Given the description of an element on the screen output the (x, y) to click on. 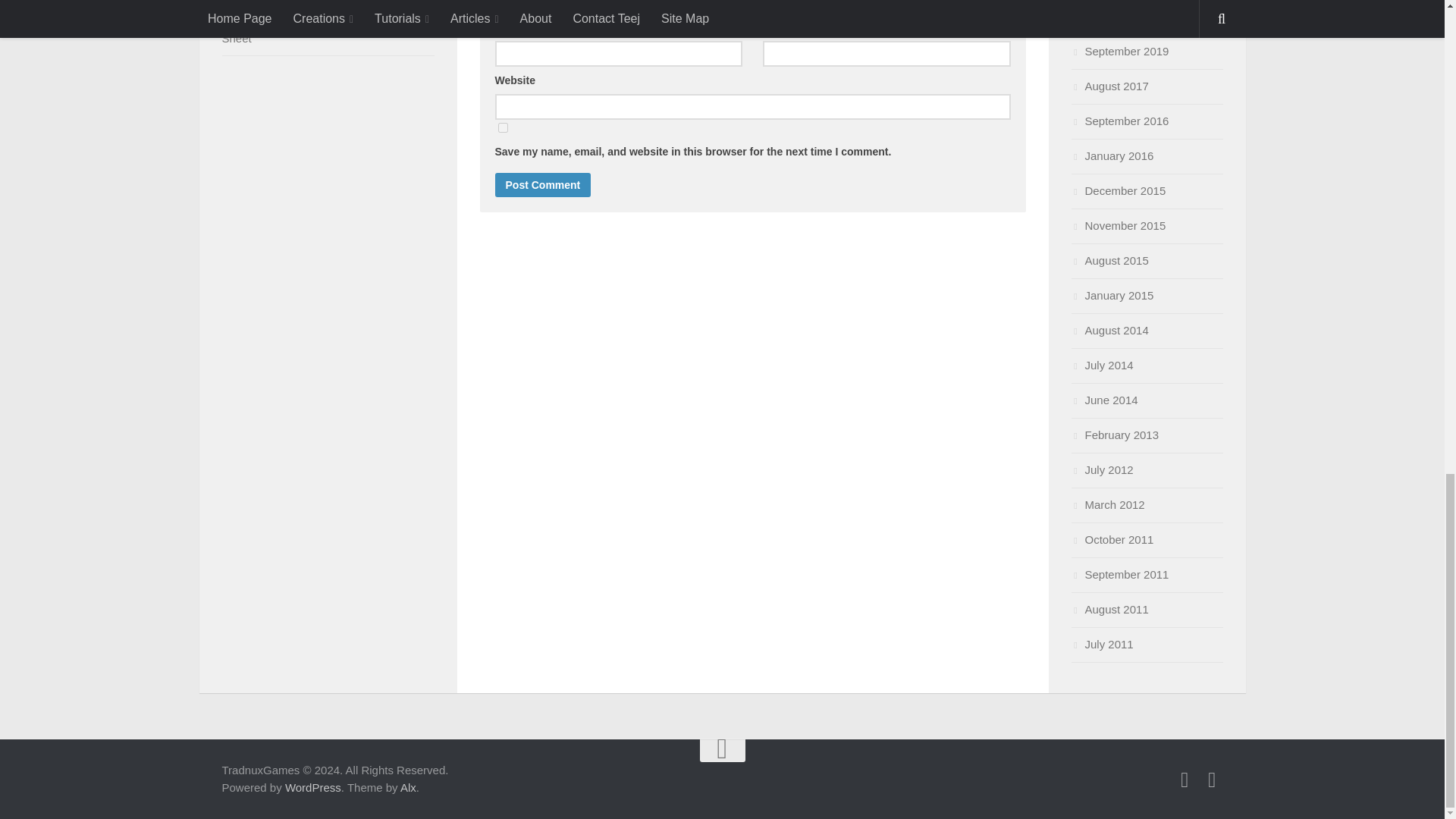
yes (501, 127)
Facebook (1184, 780)
Post Comment (543, 184)
Post Comment (543, 184)
